Given the description of an element on the screen output the (x, y) to click on. 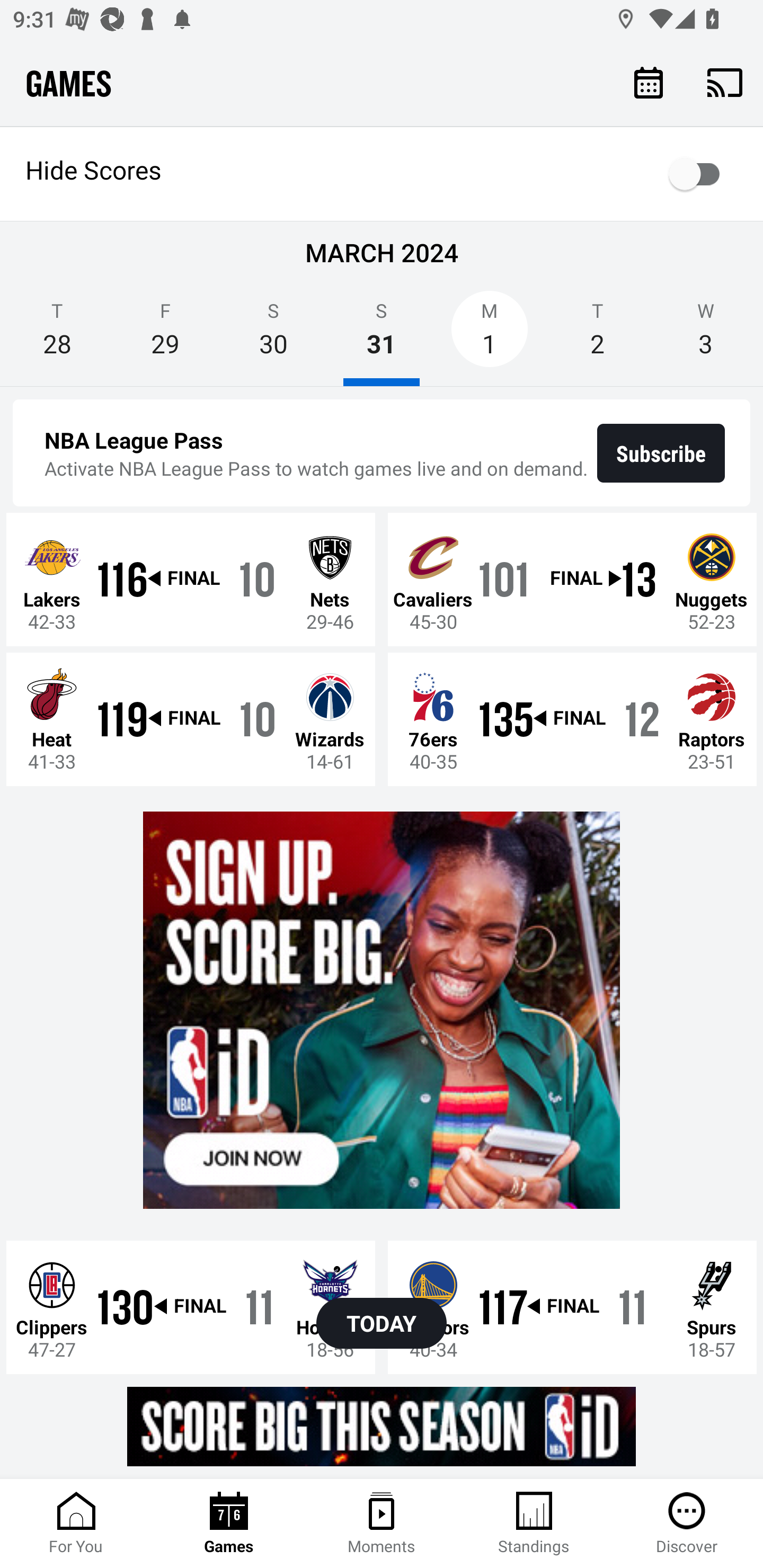
Cast. Disconnected (724, 82)
Calendar (648, 81)
Hide Scores (381, 174)
T 28 (57, 334)
F 29 (165, 334)
S 30 (273, 334)
S 31 (381, 334)
M 1 (489, 334)
T 2 (597, 334)
W 3 (705, 334)
Subscribe (660, 452)
Lakers 42-33 116 FINAL 104 Nets 29-46 (190, 579)
Cavaliers 45-30 101 FINAL 130 Nuggets 52-23 (571, 579)
Heat 41-33 119 FINAL 107 Wizards 14-61 (190, 718)
76ers 40-35 135 FINAL 120 Raptors 23-51 (571, 718)
g5nqqygr7owph (381, 1010)
Clippers 47-27 130 FINAL 118 Hornets 18-56 (190, 1306)
Warriors 40-34 117 FINAL 113 Spurs 18-57 (571, 1306)
TODAY (381, 1323)
g5nqqygr7owph (381, 1426)
For You (76, 1523)
Moments (381, 1523)
Standings (533, 1523)
Discover (686, 1523)
